Given the description of an element on the screen output the (x, y) to click on. 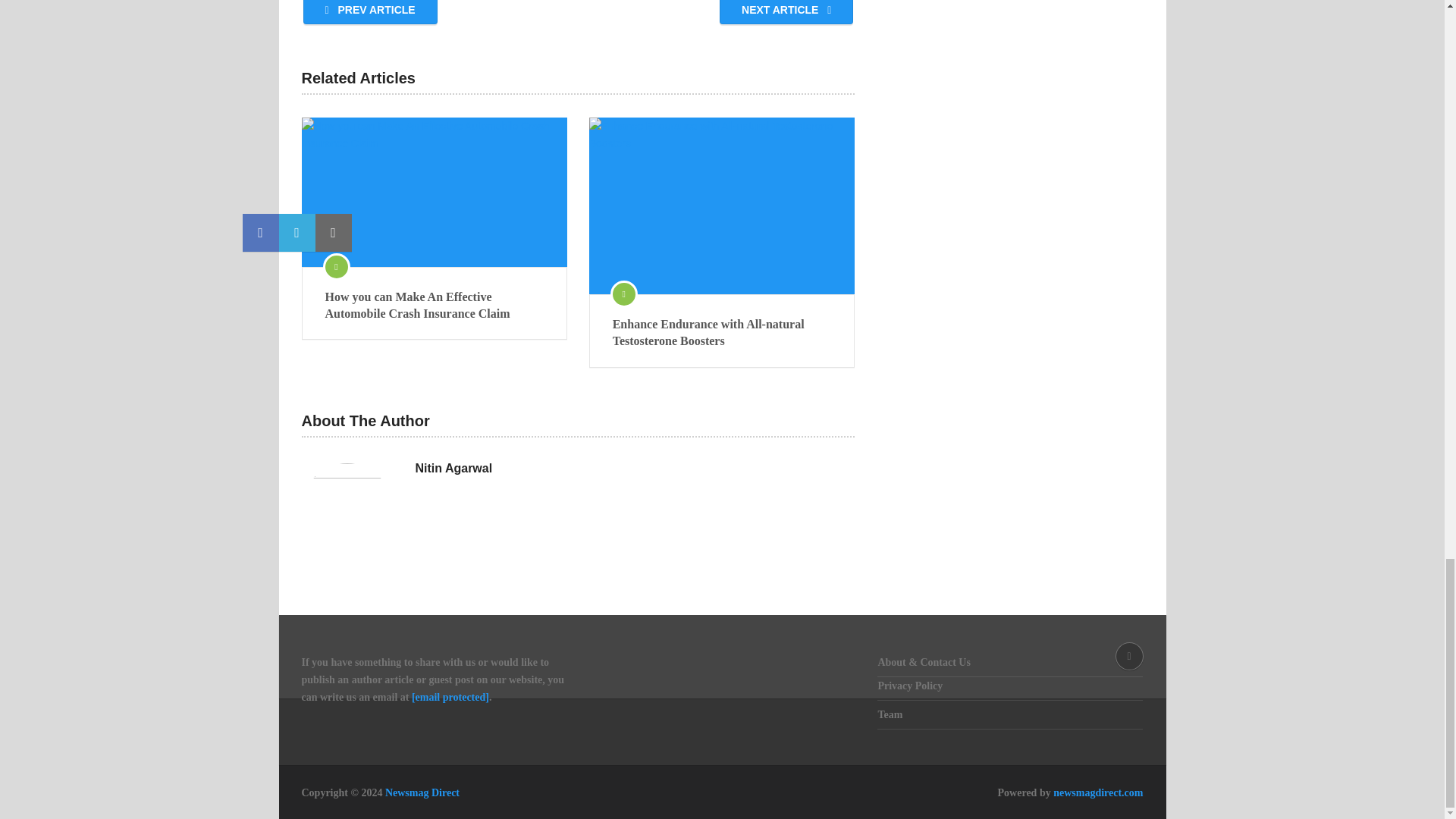
Nitin Agarwal (453, 468)
Enhance Endurance with All-natural Testosterone Boosters (721, 333)
Enhance Endurance with All-natural Testosterone Boosters (721, 333)
Enhance Endurance with All-natural Testosterone Boosters (721, 205)
PREV ARTICLE (370, 12)
NEXT ARTICLE (786, 12)
